Given the description of an element on the screen output the (x, y) to click on. 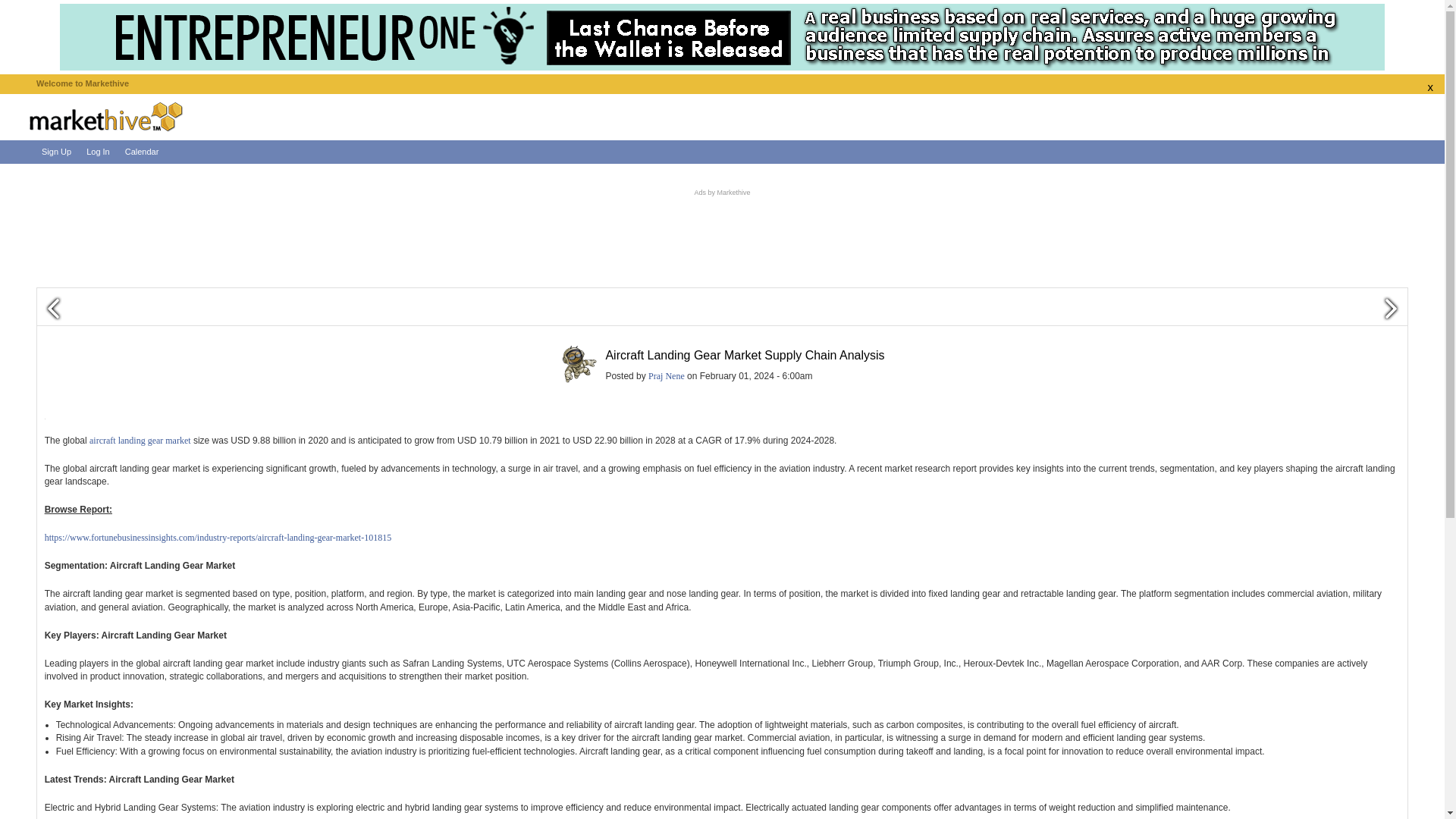
Praj Nene (665, 376)
Praj Nene (577, 362)
aircraft landing gear market (139, 439)
Calendar (142, 152)
Tip (866, 376)
Sign Up (55, 152)
Log In (97, 152)
